Given the description of an element on the screen output the (x, y) to click on. 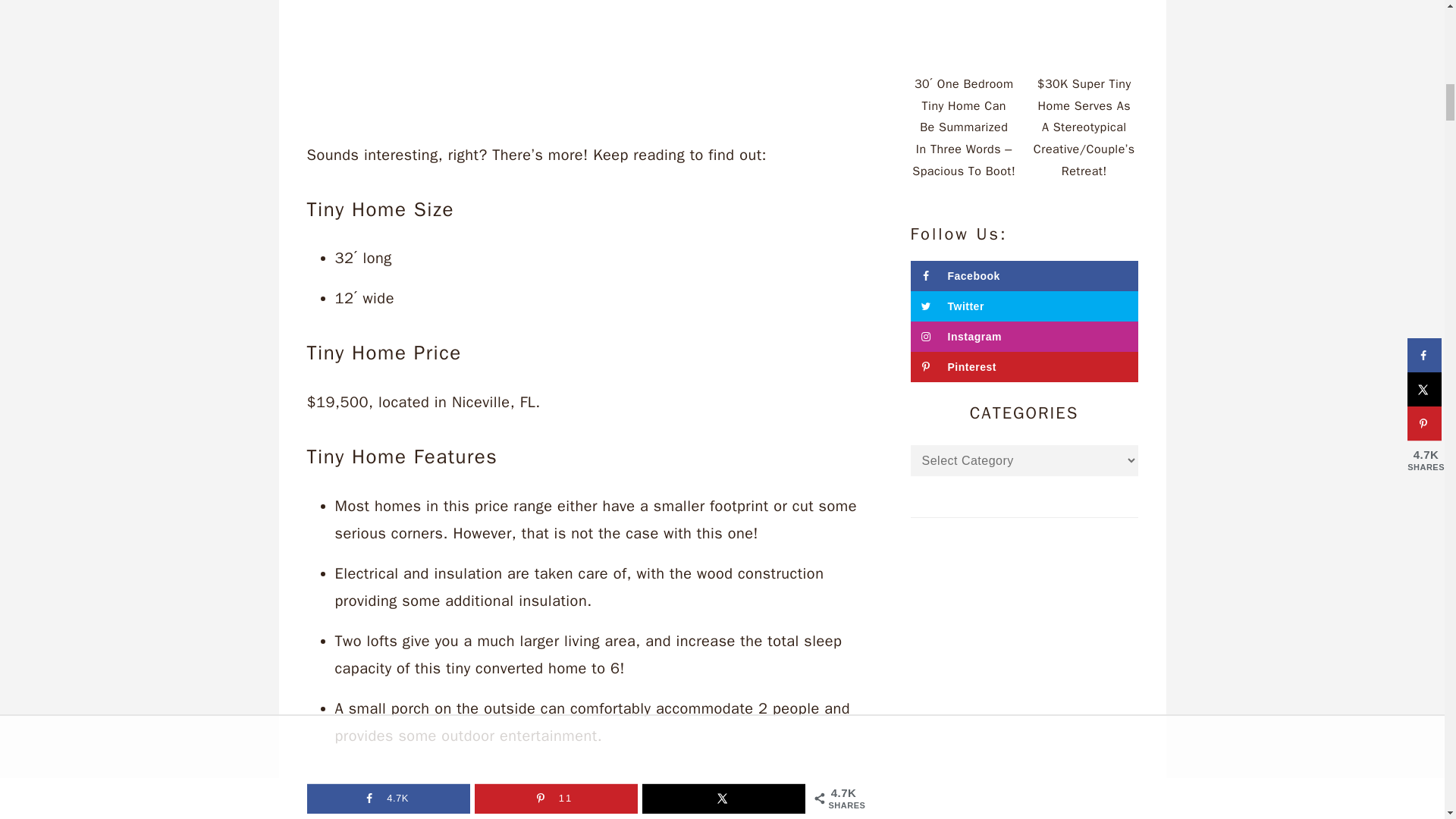
Follow on Twitter (1023, 306)
Follow on Instagram (1023, 336)
Follow on Facebook (1023, 276)
Follow on Pinterest (1023, 367)
